Given the description of an element on the screen output the (x, y) to click on. 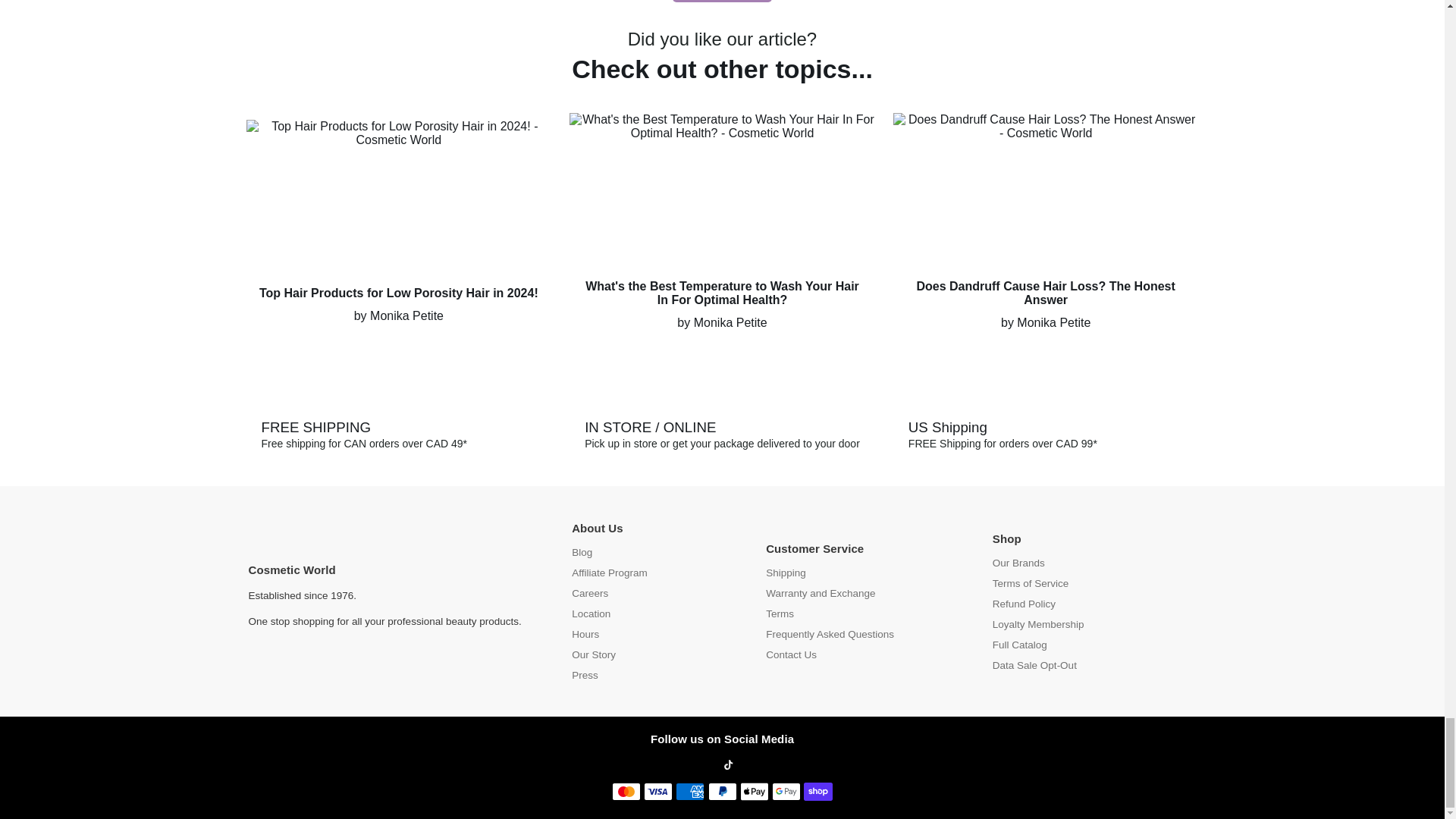
American Express (689, 791)
Shop Pay (817, 791)
Google Pay (785, 791)
PayPal (721, 791)
Apple Pay (753, 791)
Mastercard (625, 791)
Visa (657, 791)
